Given the description of an element on the screen output the (x, y) to click on. 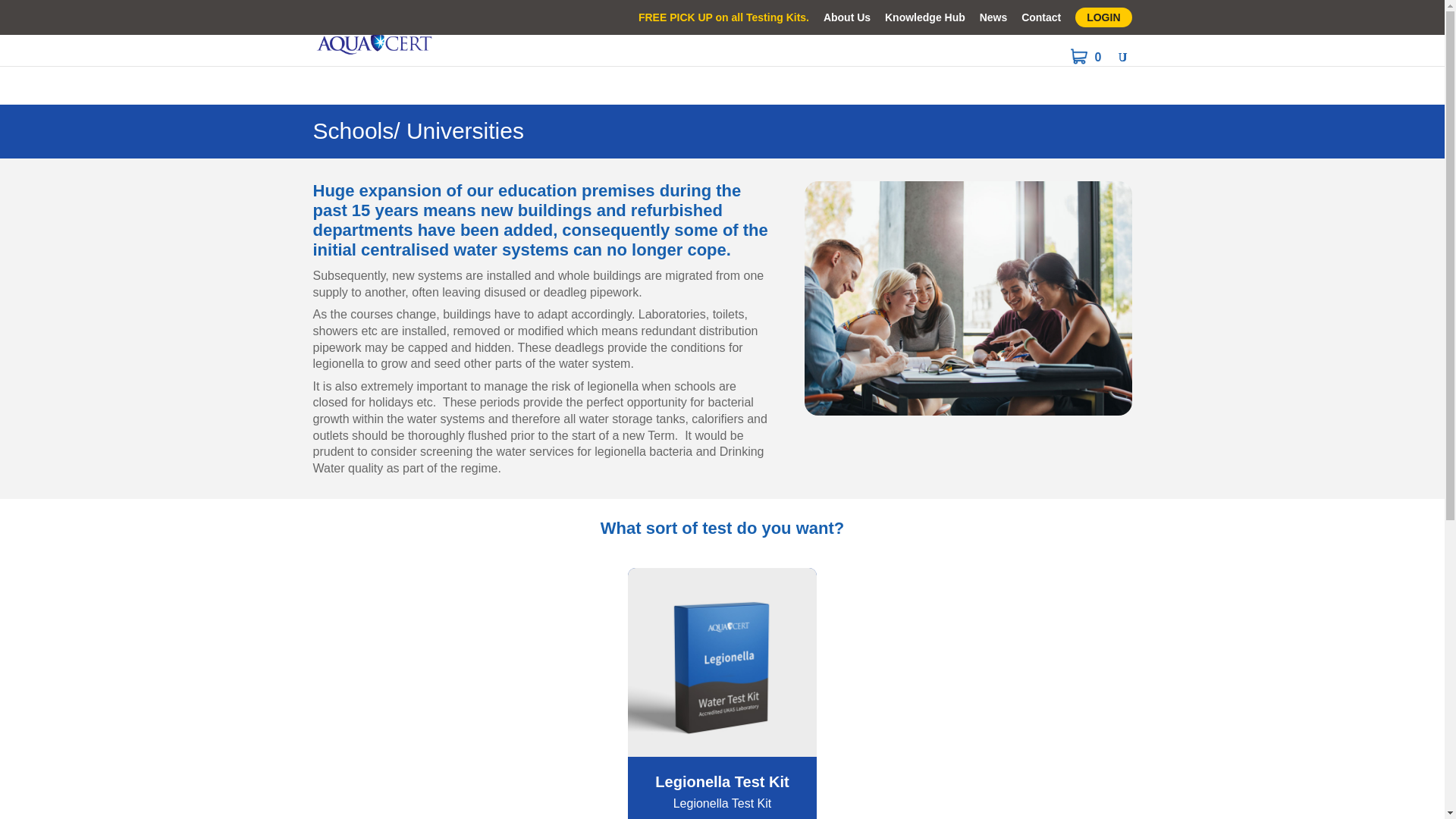
About Us (847, 21)
News (993, 21)
LOGIN (1103, 17)
Knowledge Hub (925, 21)
FREE PICK UP on all Testing Kits. (724, 21)
Contact (1041, 21)
